Given the description of an element on the screen output the (x, y) to click on. 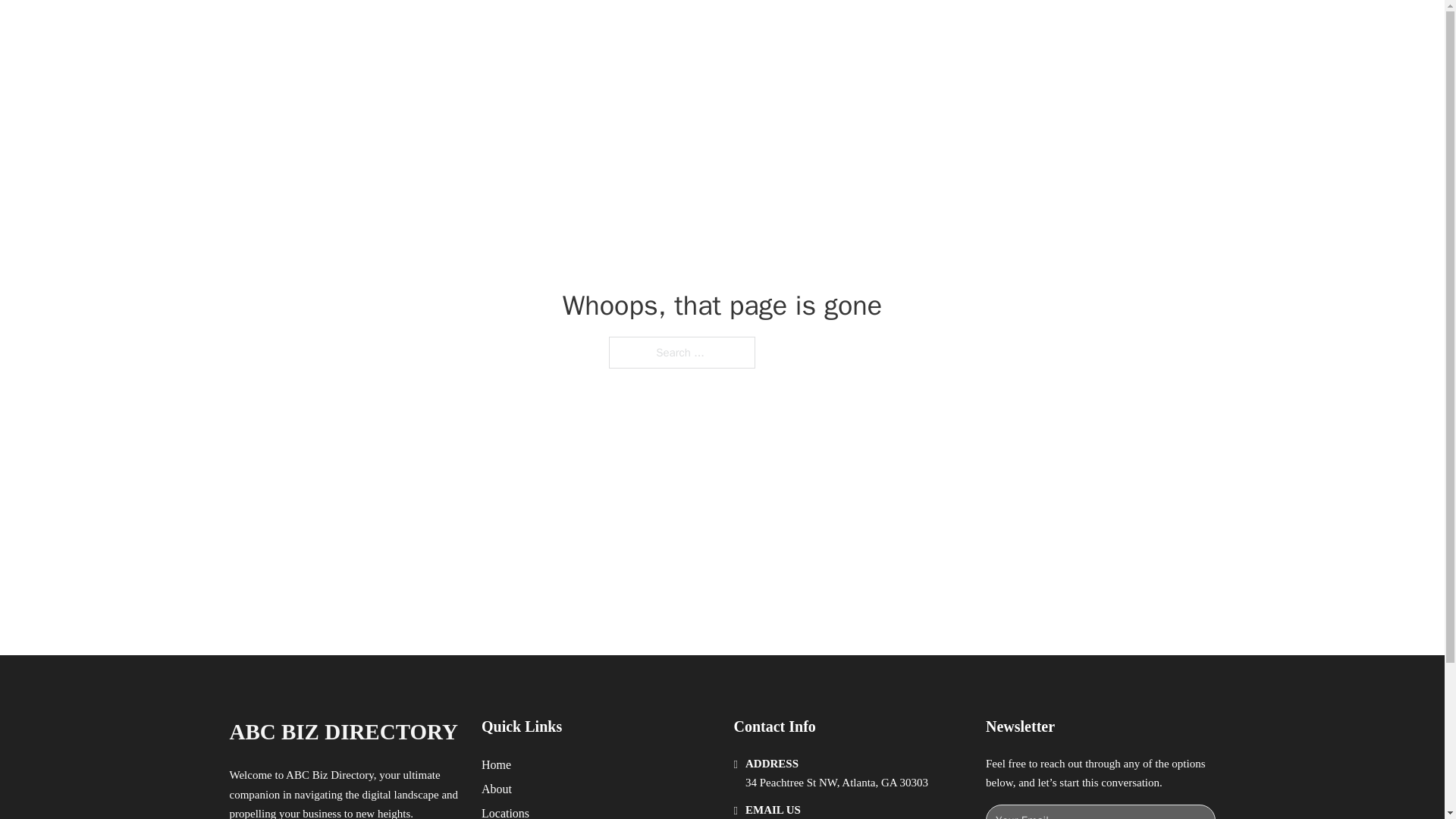
ABC BIZ DIRECTORY (411, 28)
LOCATIONS (990, 29)
Home (496, 764)
ABC BIZ DIRECTORY (342, 732)
About (496, 788)
HOME (919, 29)
Locations (505, 811)
